Given the description of an element on the screen output the (x, y) to click on. 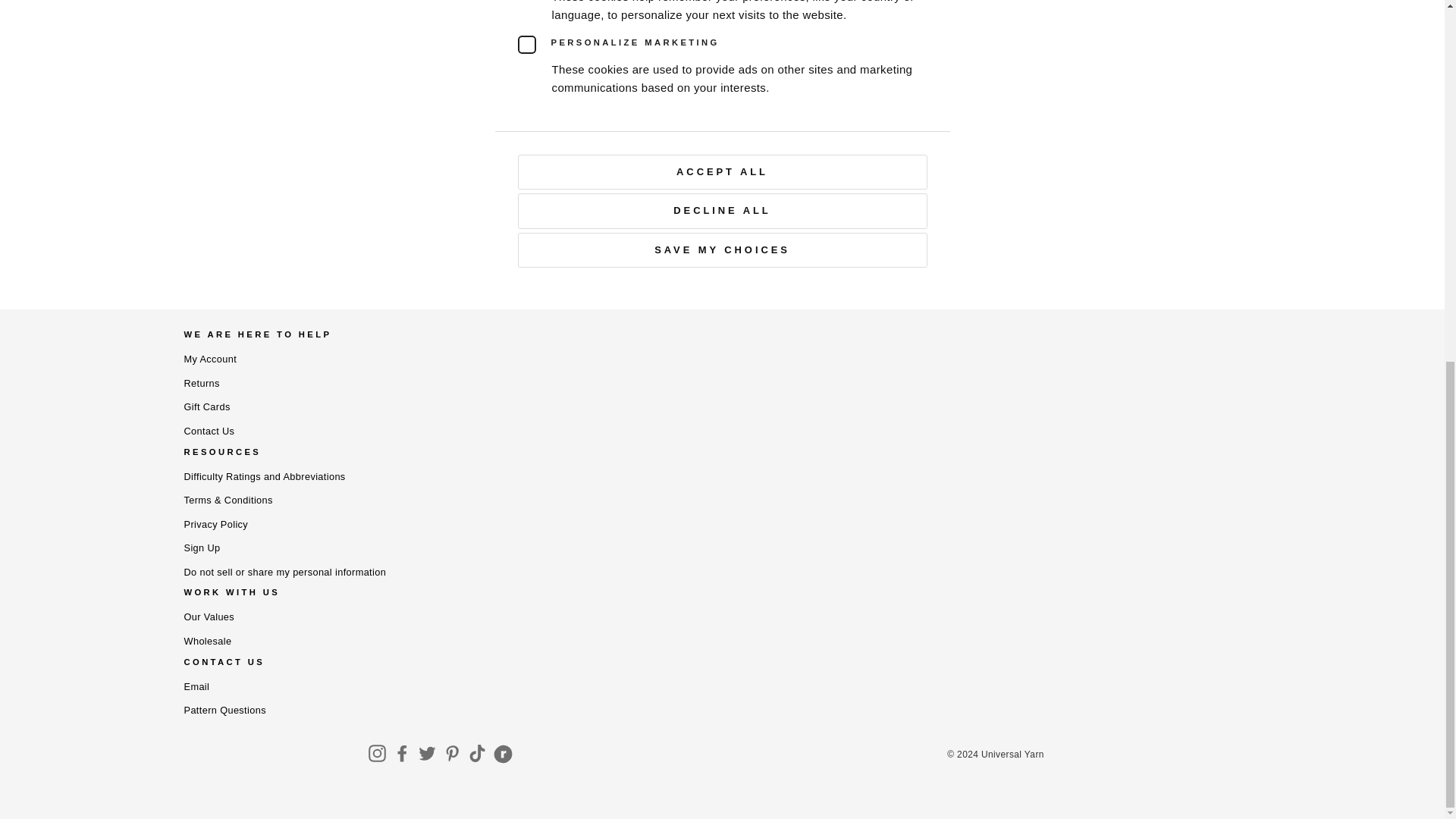
Universal Yarn on Instagram (377, 757)
Universal Yarn on Ravelry (502, 757)
Universal Yarn on Facebook (402, 757)
Universal Yarn on TikTok (476, 757)
Universal Yarn on Twitter (426, 757)
Universal Yarn on Pinterest (451, 757)
